Given the description of an element on the screen output the (x, y) to click on. 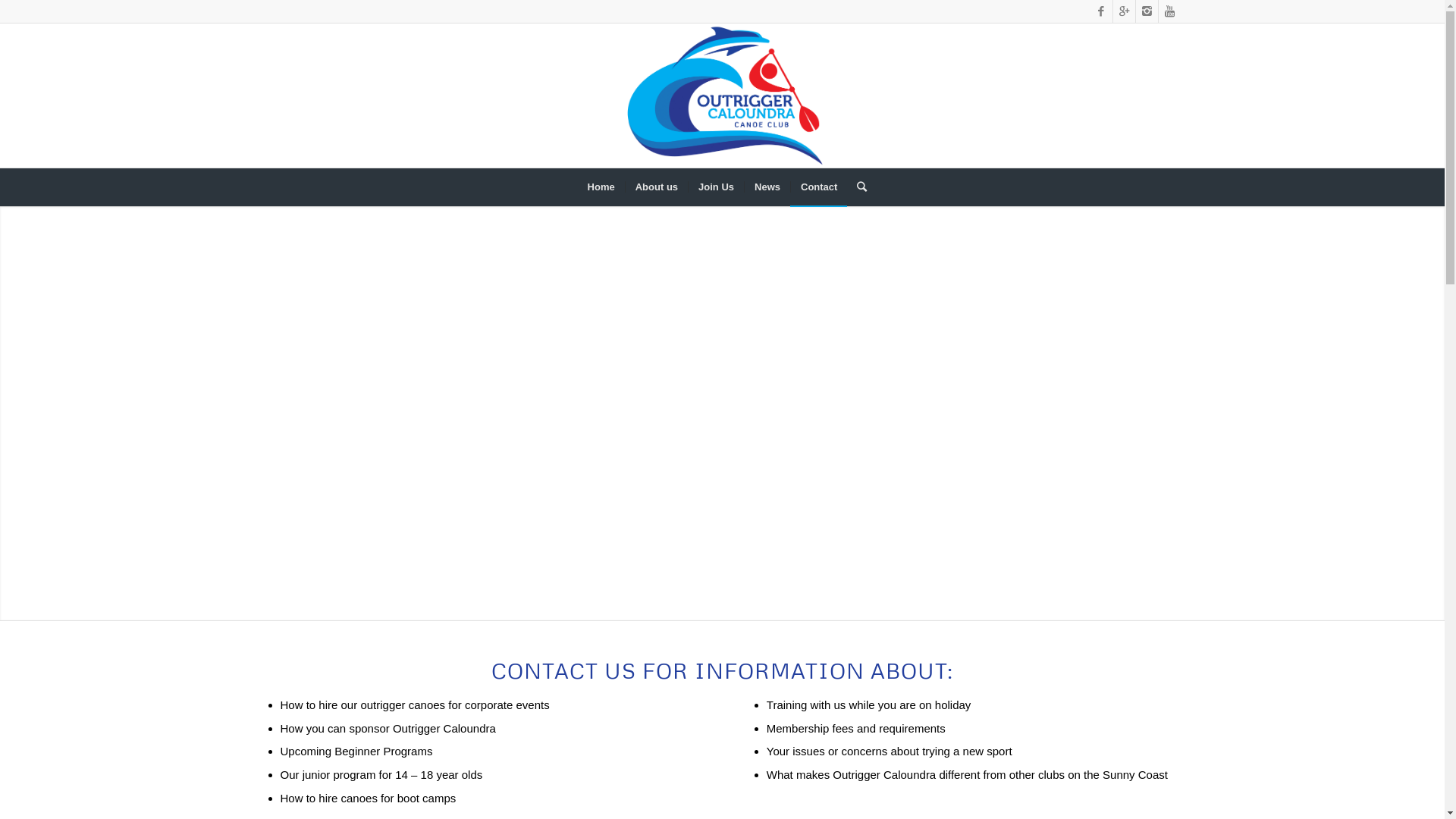
Youtube Element type: hover (1169, 11)
Contact Element type: text (818, 187)
About us Element type: text (655, 187)
Instagram Element type: hover (1146, 11)
Join Us Element type: text (715, 187)
News Element type: text (766, 187)
Home Element type: text (600, 187)
Gplus Element type: hover (1124, 11)
Facebook Element type: hover (1101, 11)
